Given the description of an element on the screen output the (x, y) to click on. 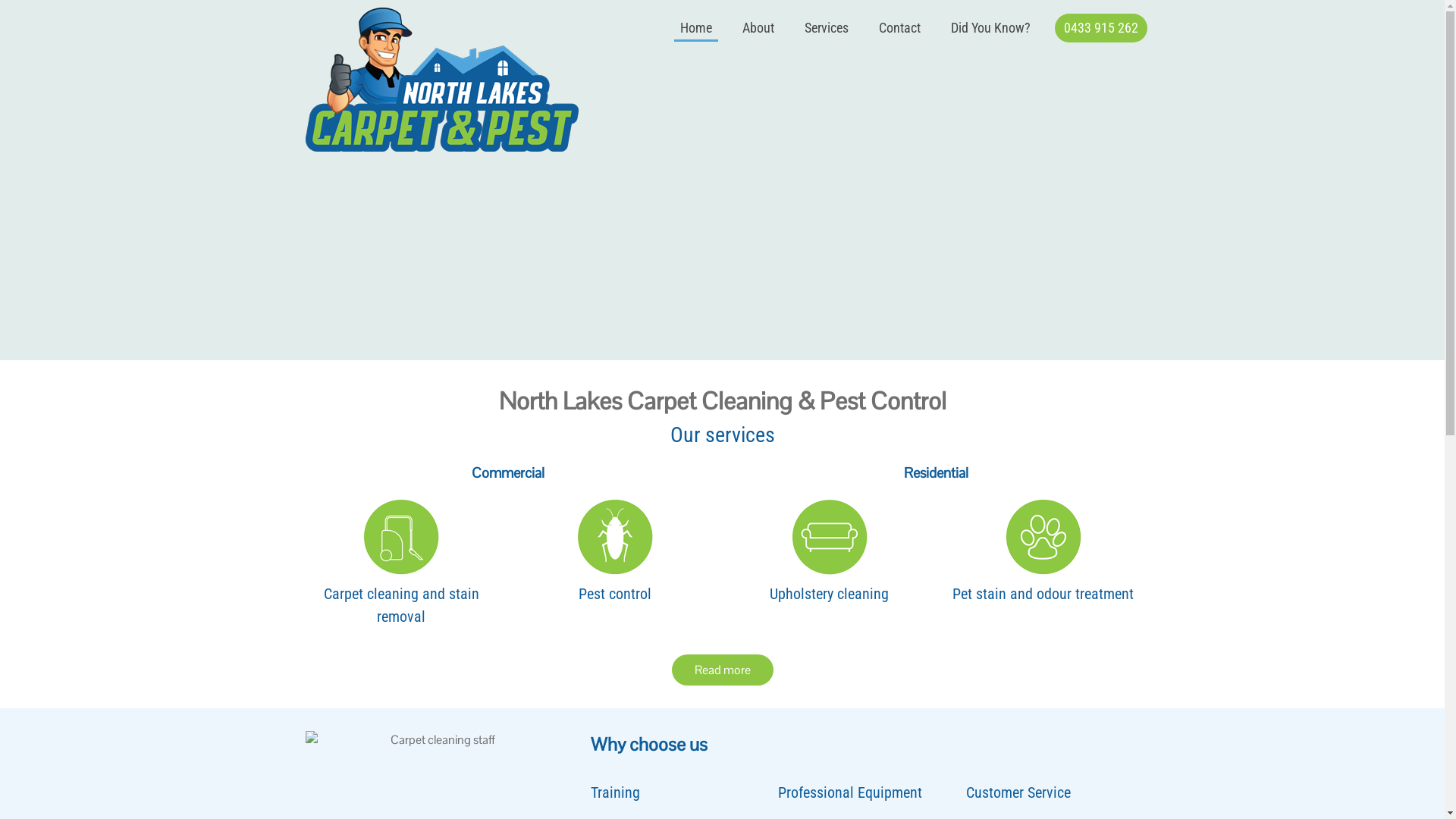
Did You Know? Element type: text (990, 27)
Commercial Element type: text (507, 472)
About Element type: text (757, 27)
Services Element type: text (825, 27)
North Lakes Carpet & Pest Element type: text (456, 79)
Read more Element type: text (722, 669)
Home Element type: text (695, 27)
Contact Element type: text (898, 27)
Residential Element type: text (935, 472)
Skip to primary navigation Element type: text (0, 0)
0433 915 262 Element type: text (1100, 27)
